Given the description of an element on the screen output the (x, y) to click on. 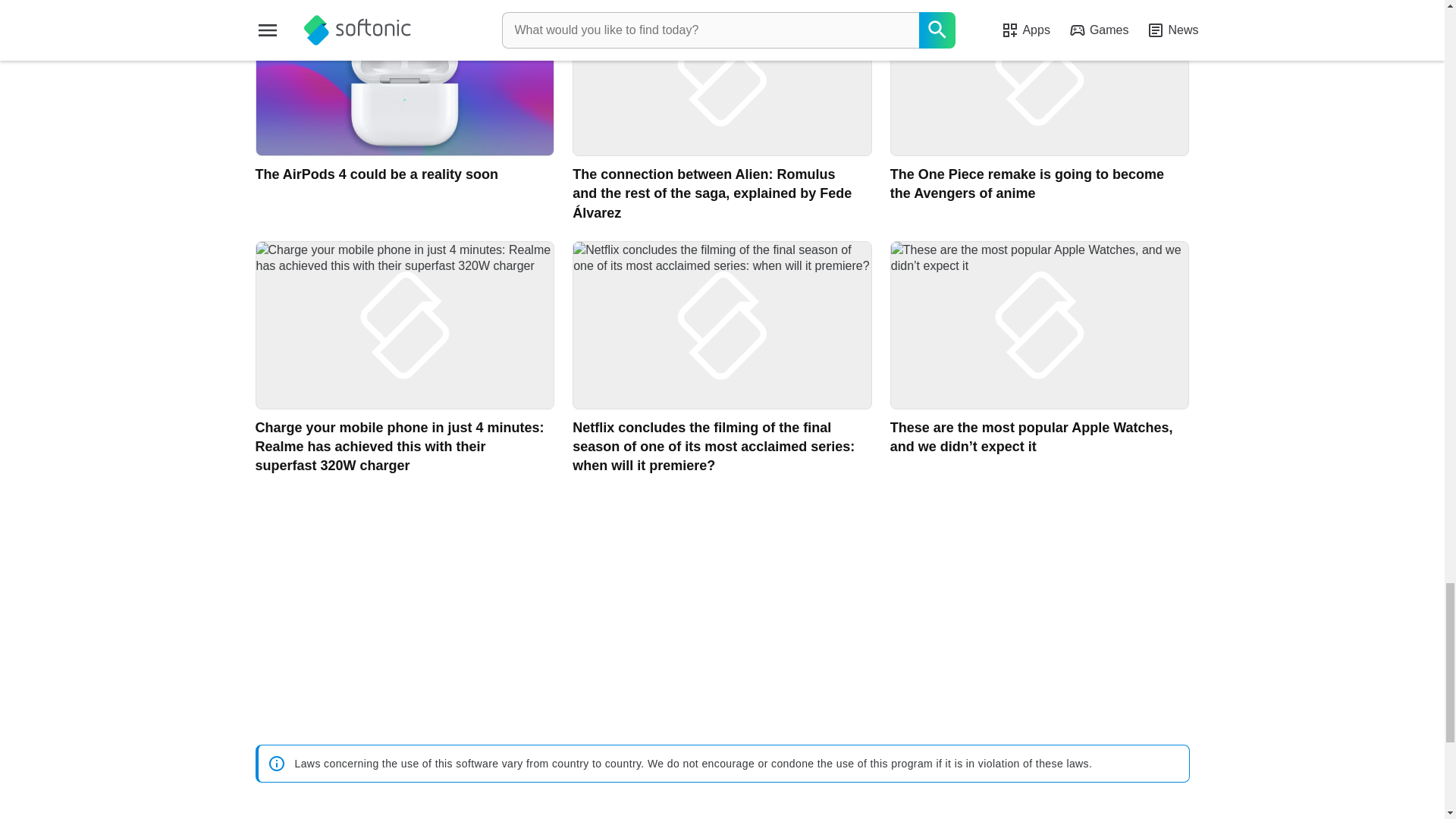
The AirPods 4 could be a reality soon (404, 111)
